Given the description of an element on the screen output the (x, y) to click on. 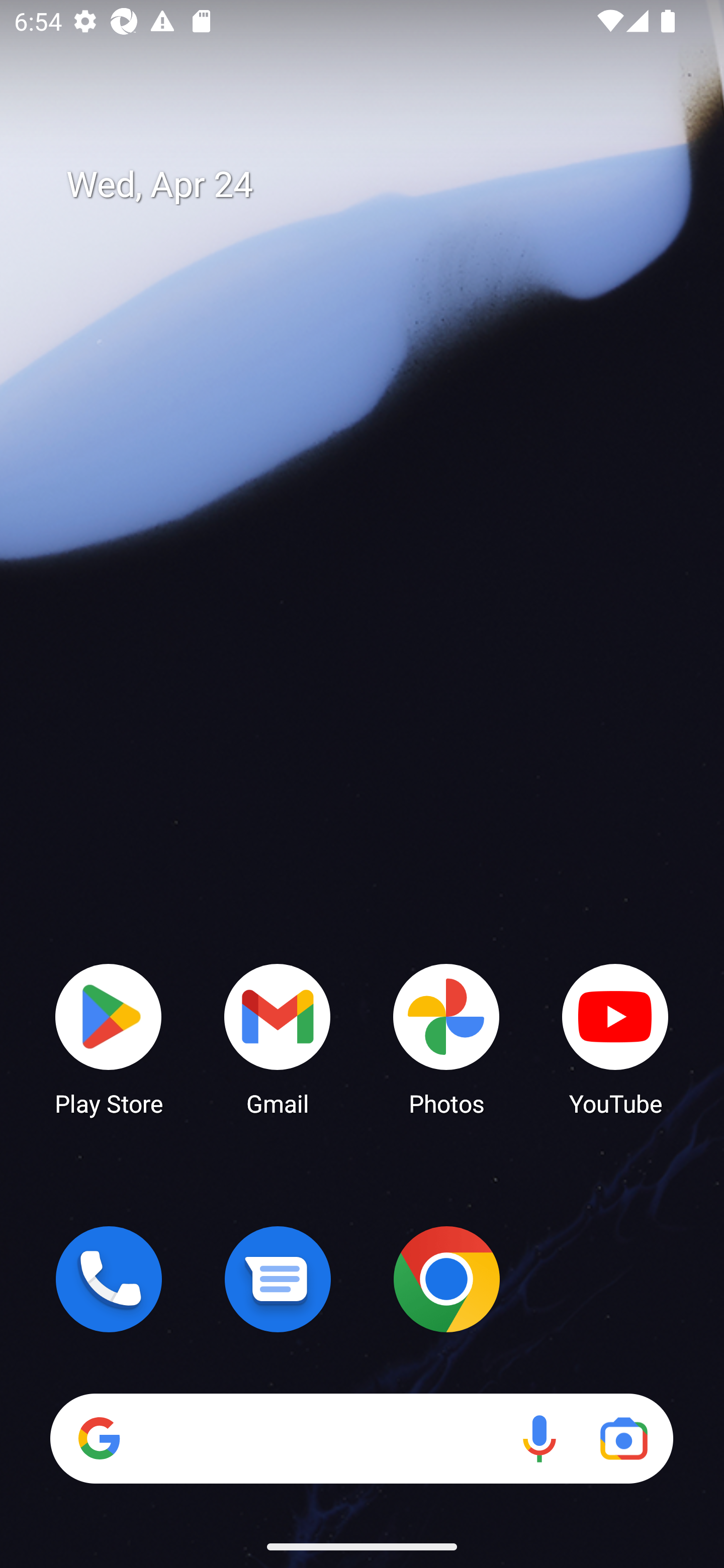
Wed, Apr 24 (375, 184)
Play Store (108, 1038)
Gmail (277, 1038)
Photos (445, 1038)
YouTube (615, 1038)
Phone (108, 1279)
Messages (277, 1279)
Chrome (446, 1279)
Search Voice search Google Lens (361, 1438)
Voice search (539, 1438)
Google Lens (623, 1438)
